Given the description of an element on the screen output the (x, y) to click on. 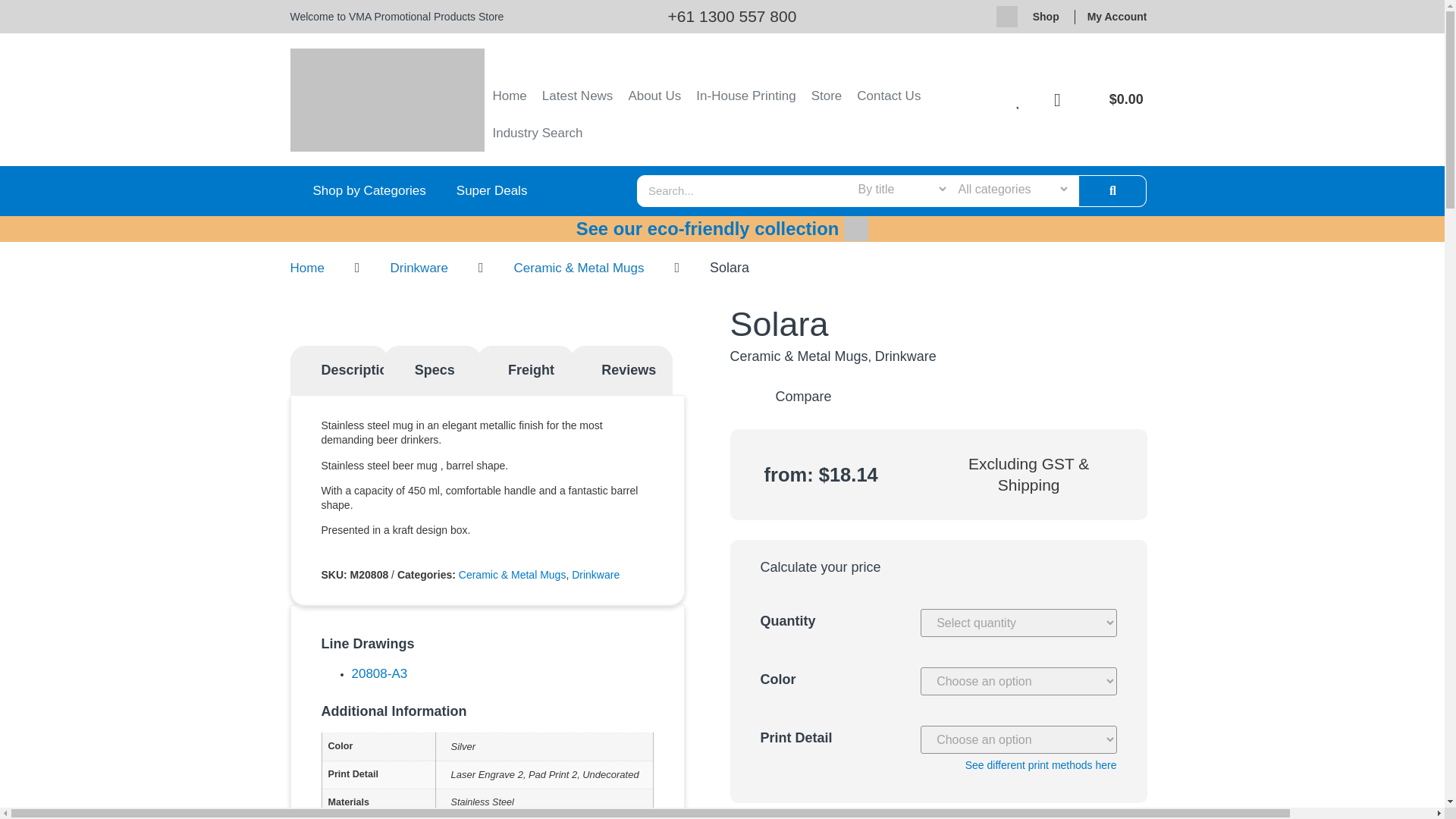
Industry Search (536, 133)
Contact Us (888, 96)
About Us (654, 96)
My Account (1117, 16)
In-House Printing (745, 96)
Store (826, 96)
Home (509, 96)
Shop (1045, 16)
Latest News (577, 96)
